Given the description of an element on the screen output the (x, y) to click on. 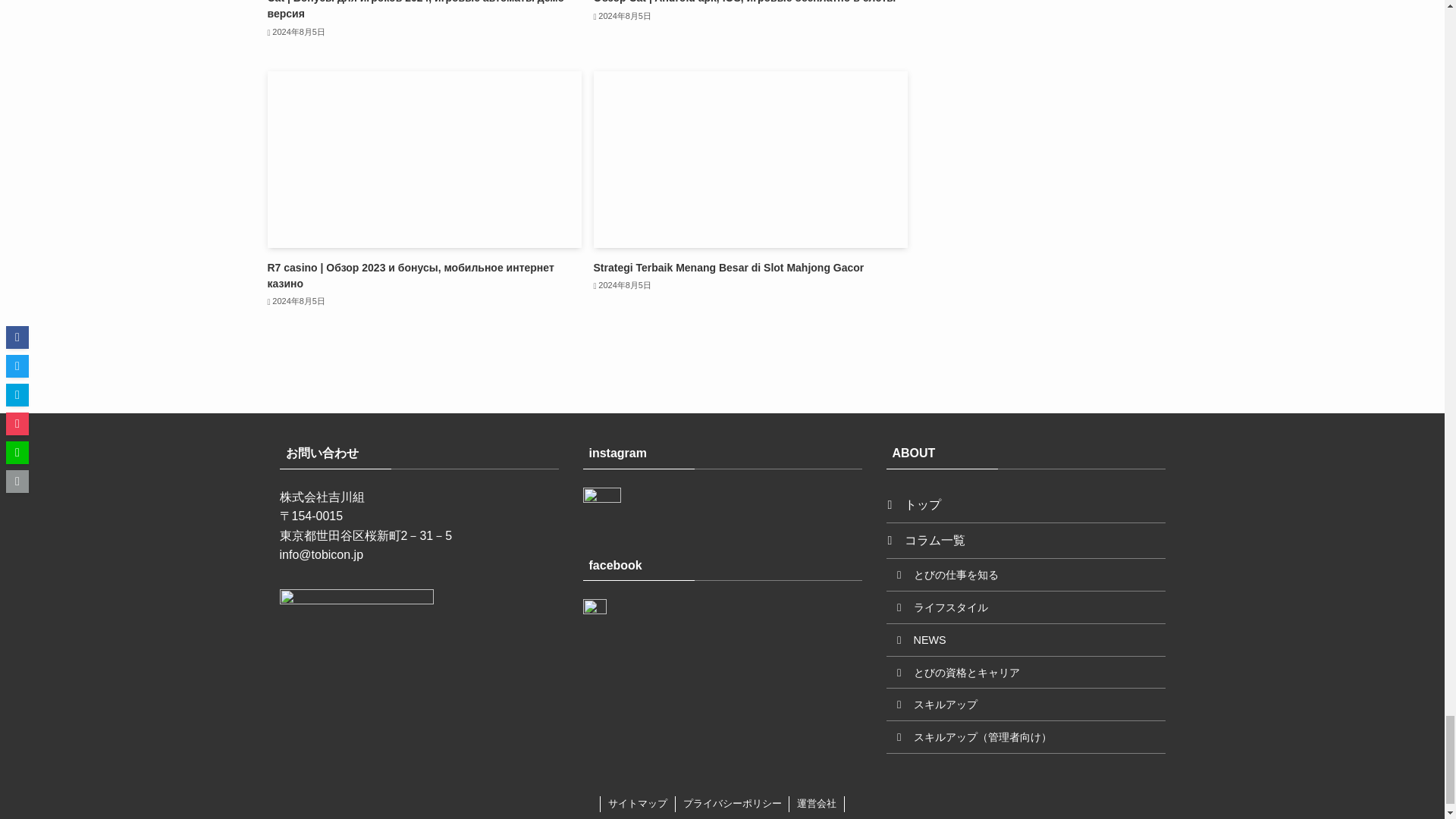
instagram (601, 506)
